Given the description of an element on the screen output the (x, y) to click on. 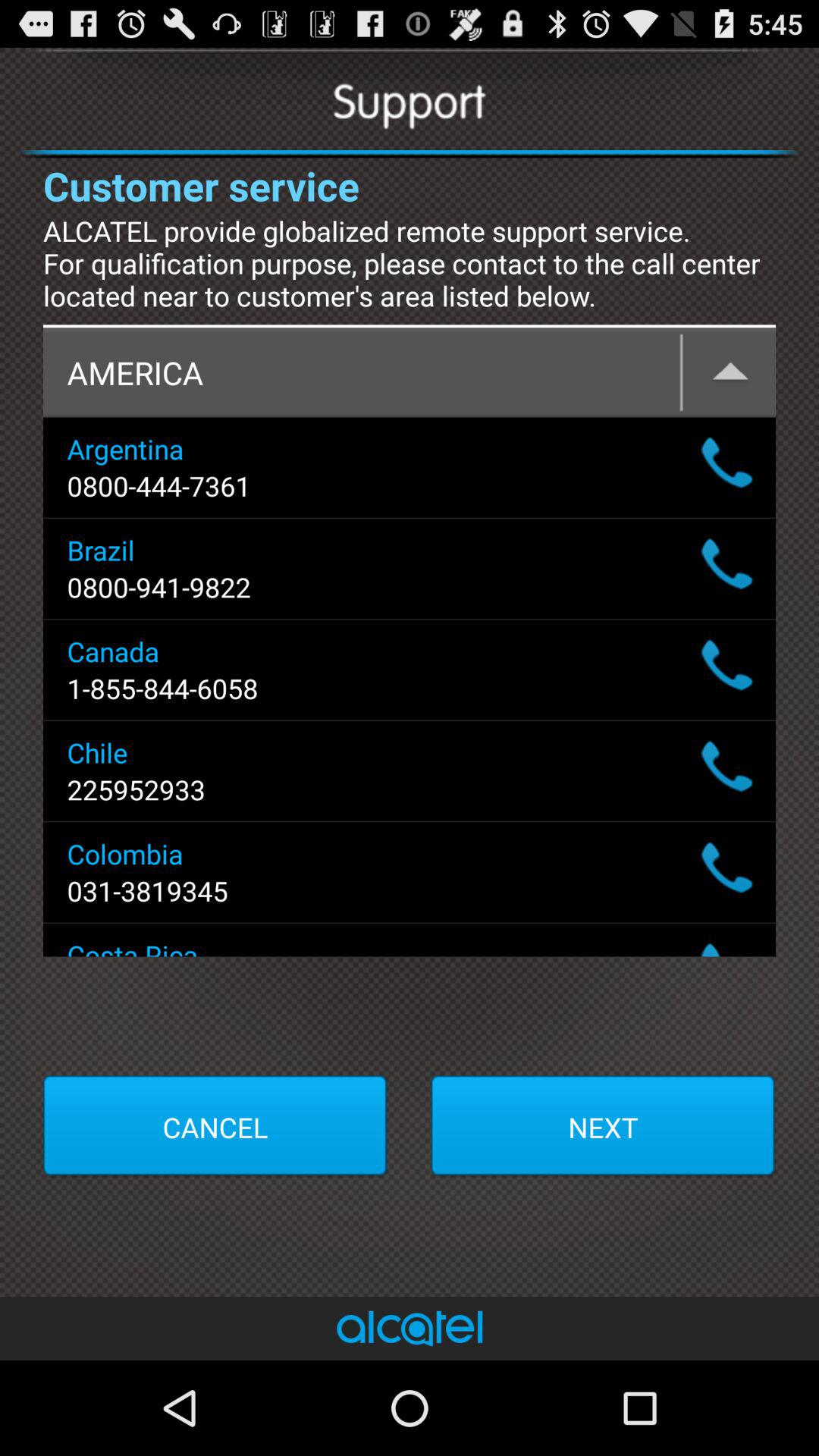
click on the text america (409, 372)
